Given the description of an element on the screen output the (x, y) to click on. 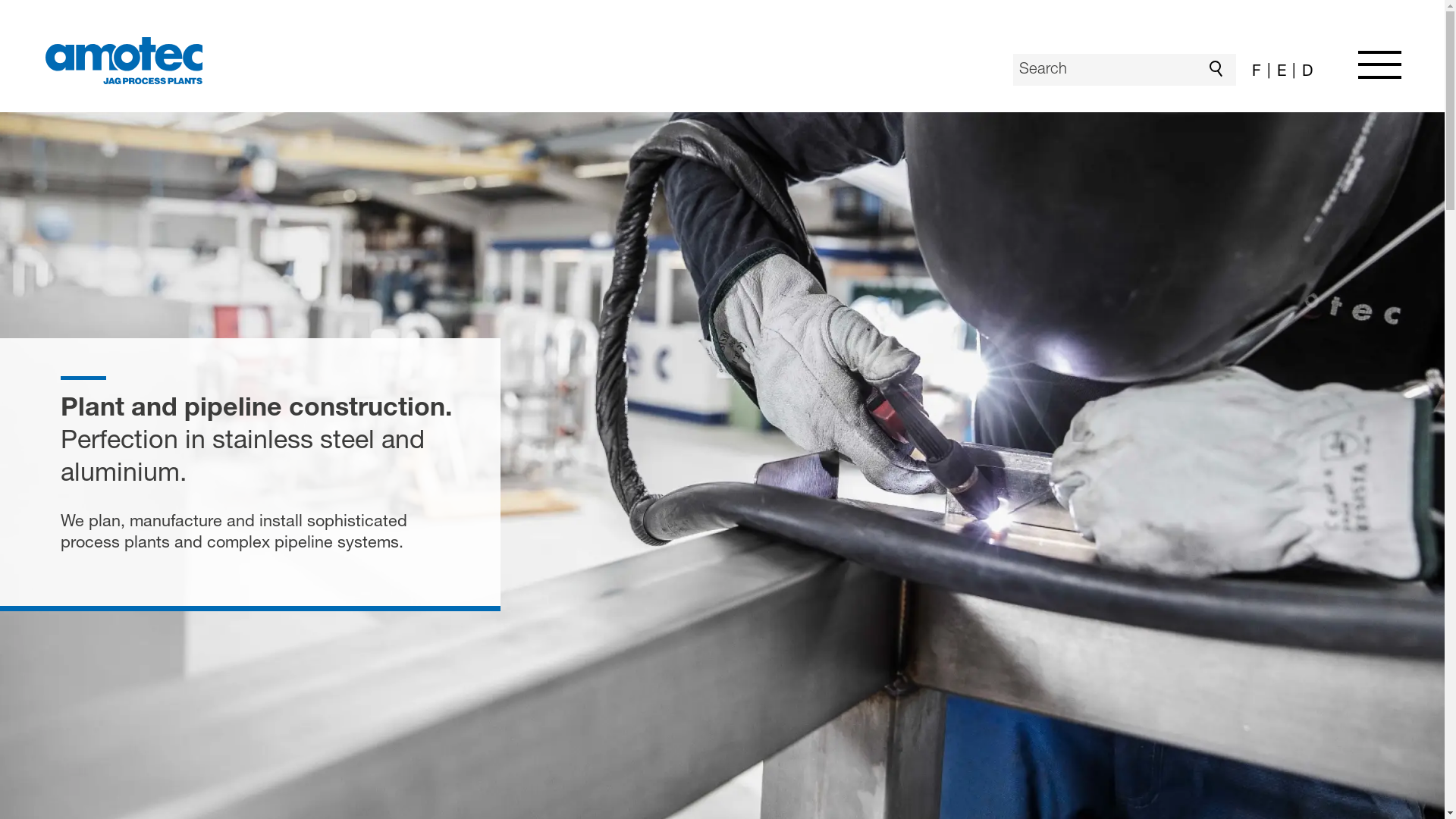
F Element type: text (1254, 72)
D Element type: text (1302, 72)
Zur Startseite Element type: hover (123, 60)
Search Element type: text (1220, 69)
E Element type: text (1276, 72)
